Given the description of an element on the screen output the (x, y) to click on. 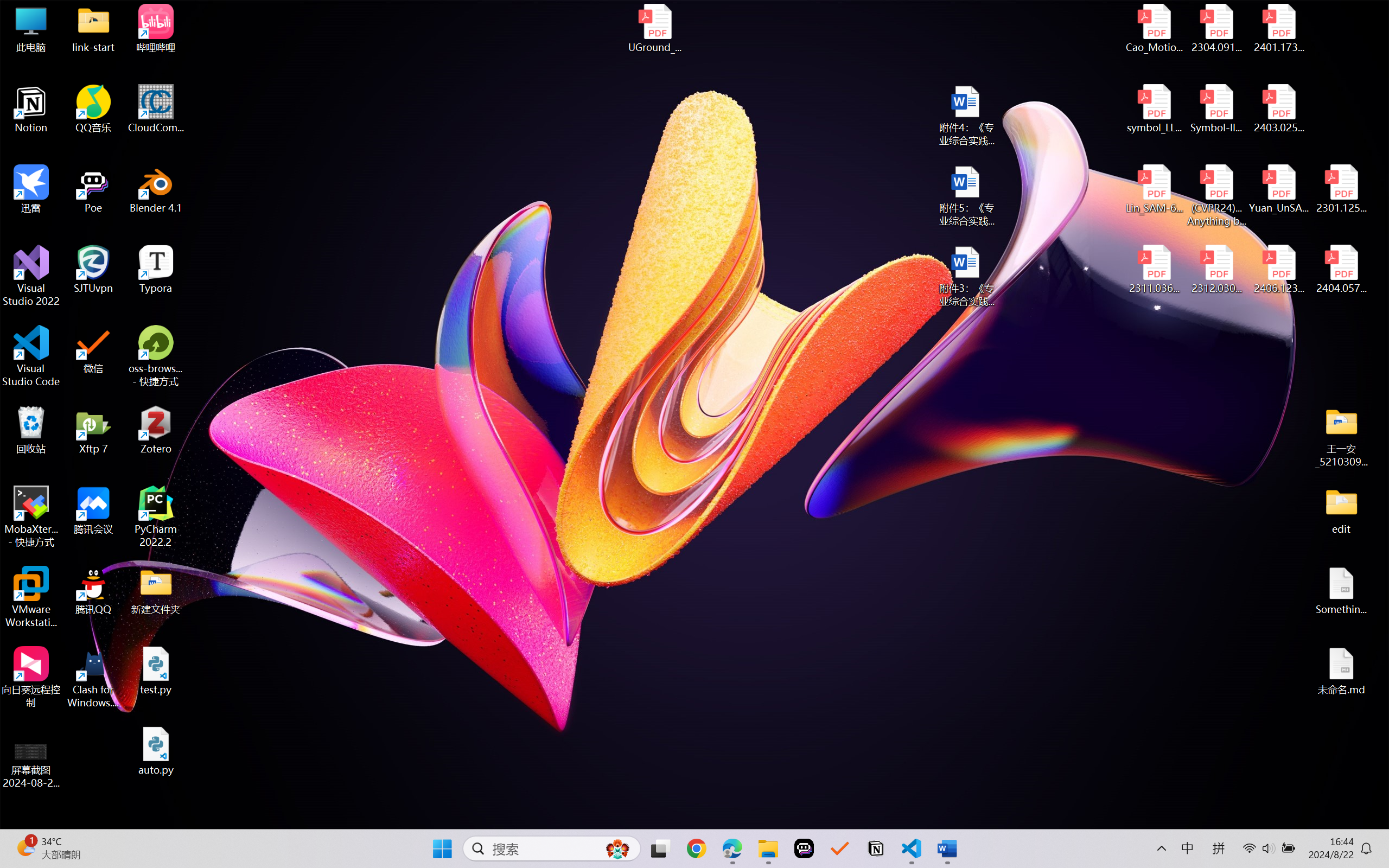
Something.md (1340, 591)
Symbol-llm-v2.pdf (1216, 109)
CloudCompare (156, 109)
Visual Studio Code (31, 355)
auto.py (156, 751)
